Given the description of an element on the screen output the (x, y) to click on. 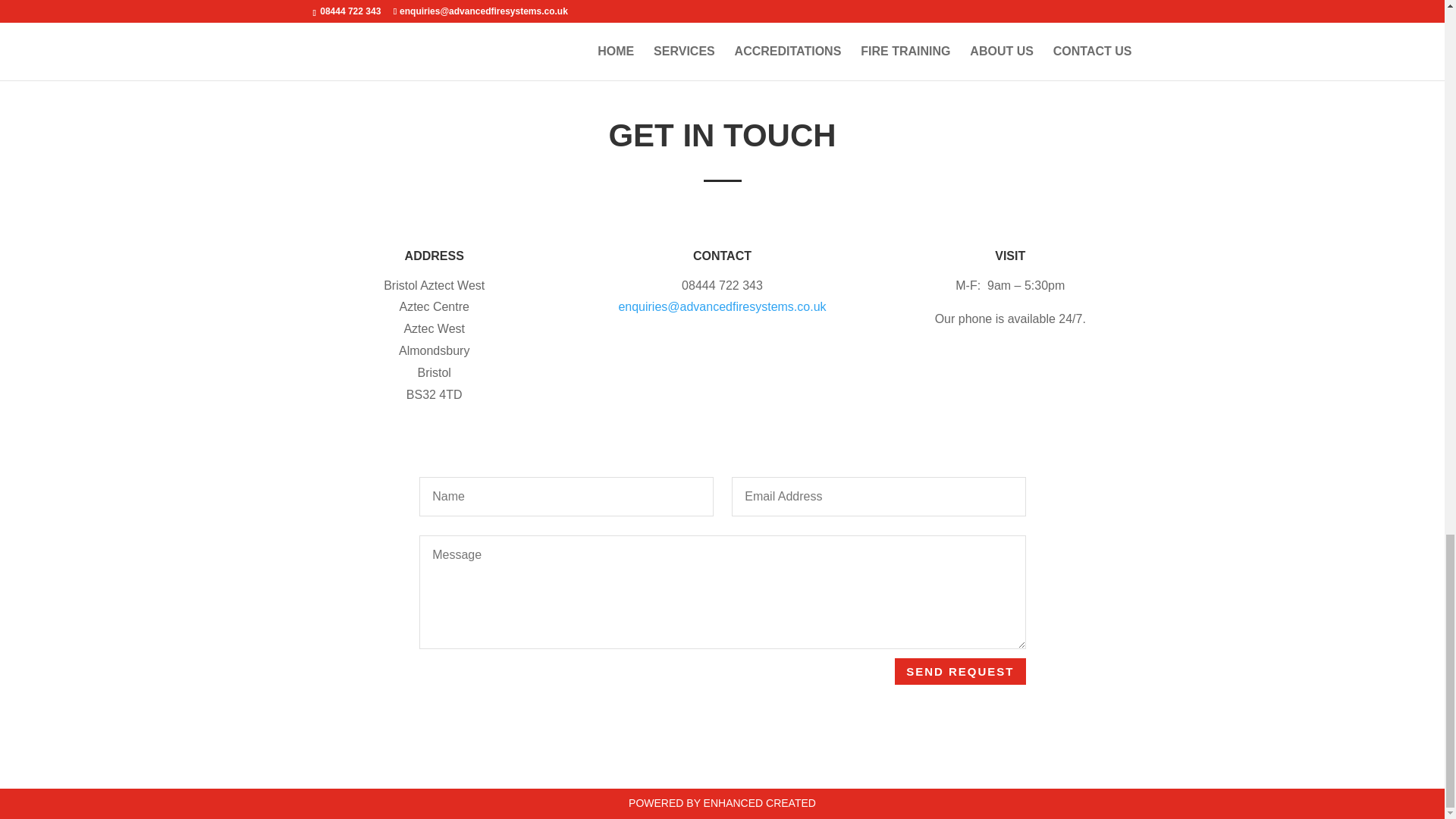
SEND REQUEST (960, 671)
